Given the description of an element on the screen output the (x, y) to click on. 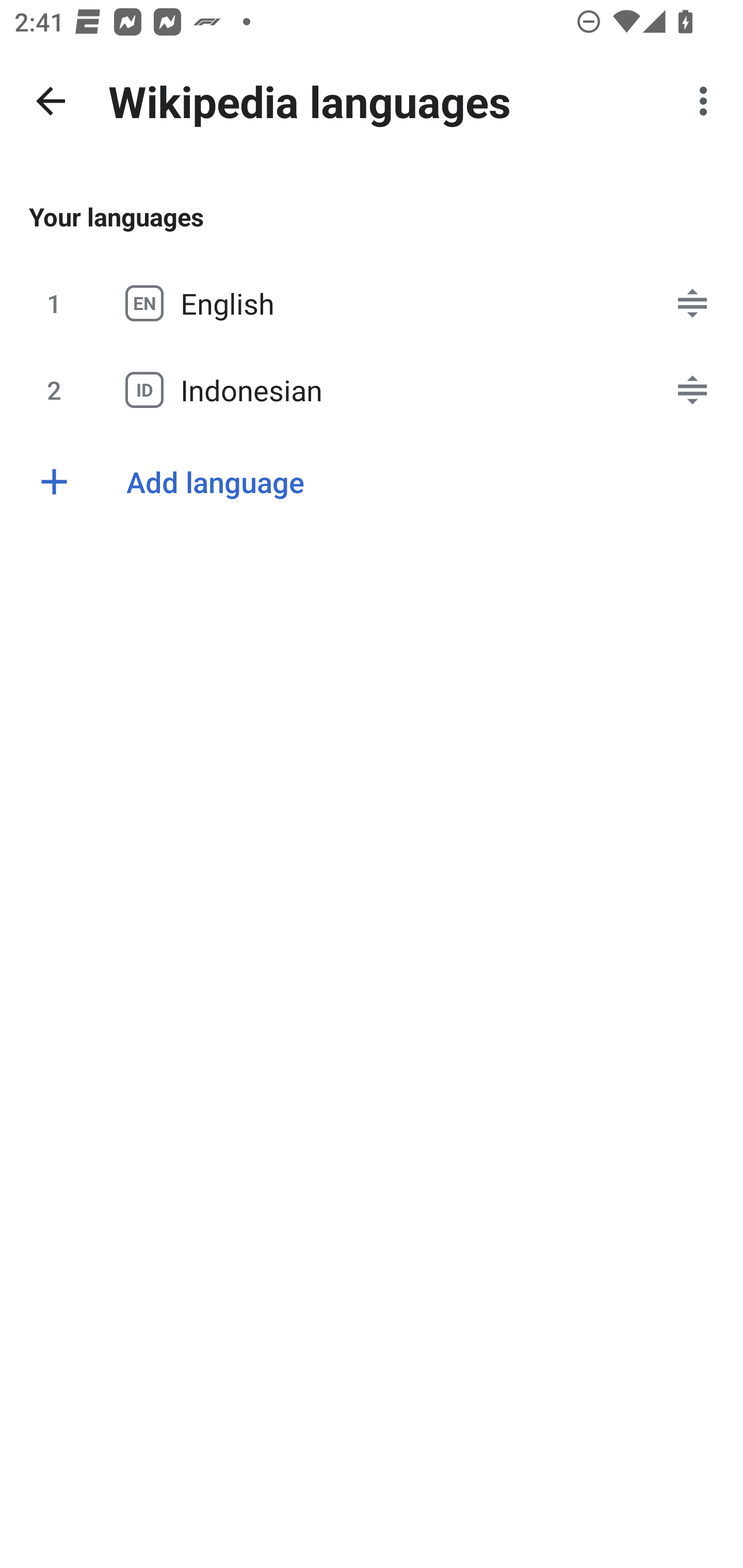
Navigate up (50, 101)
More options (706, 101)
1 EN English (371, 303)
2 ID Indonesian (371, 389)
Add language (371, 480)
